Given the description of an element on the screen output the (x, y) to click on. 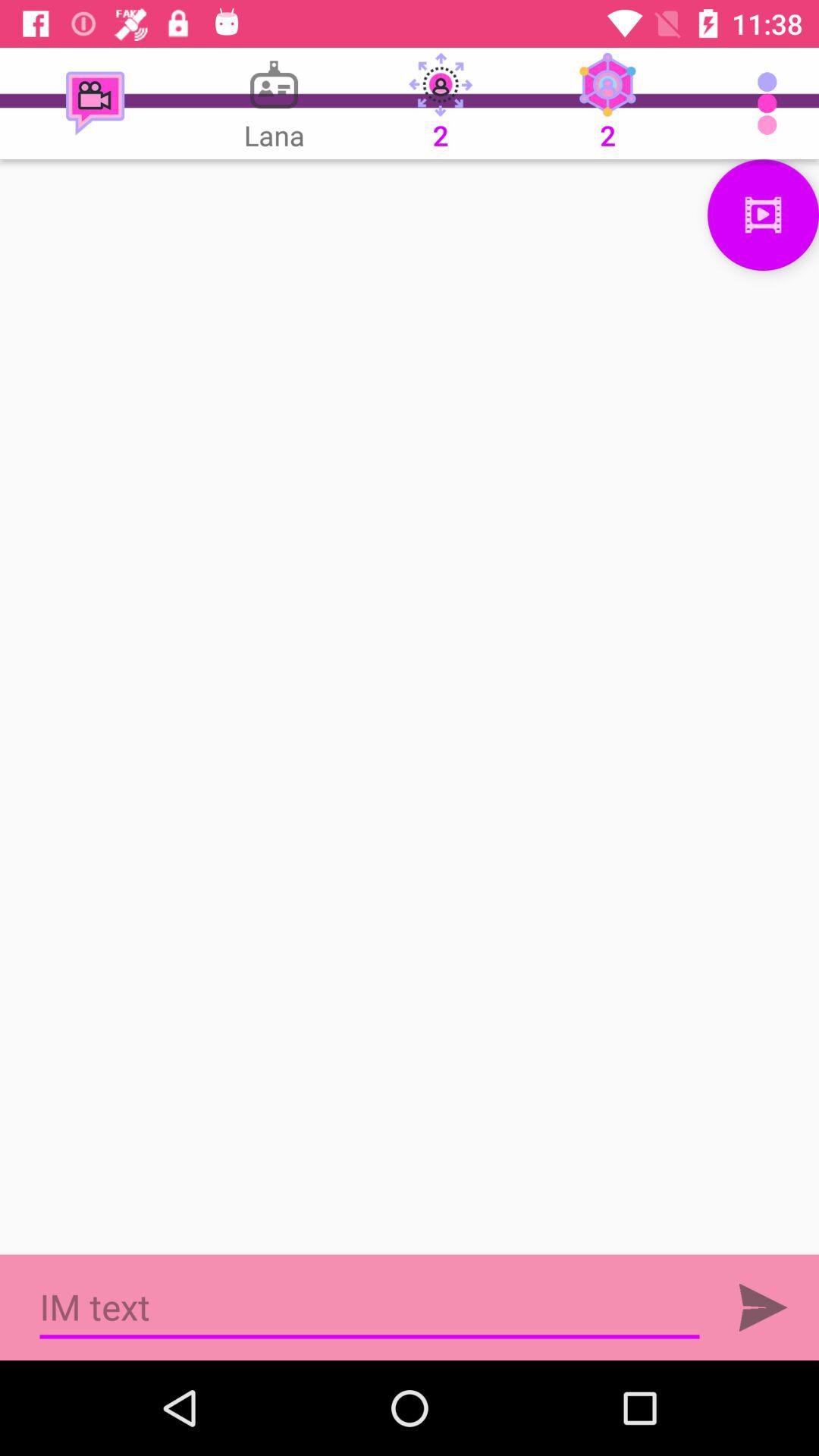
send text (763, 1307)
